Given the description of an element on the screen output the (x, y) to click on. 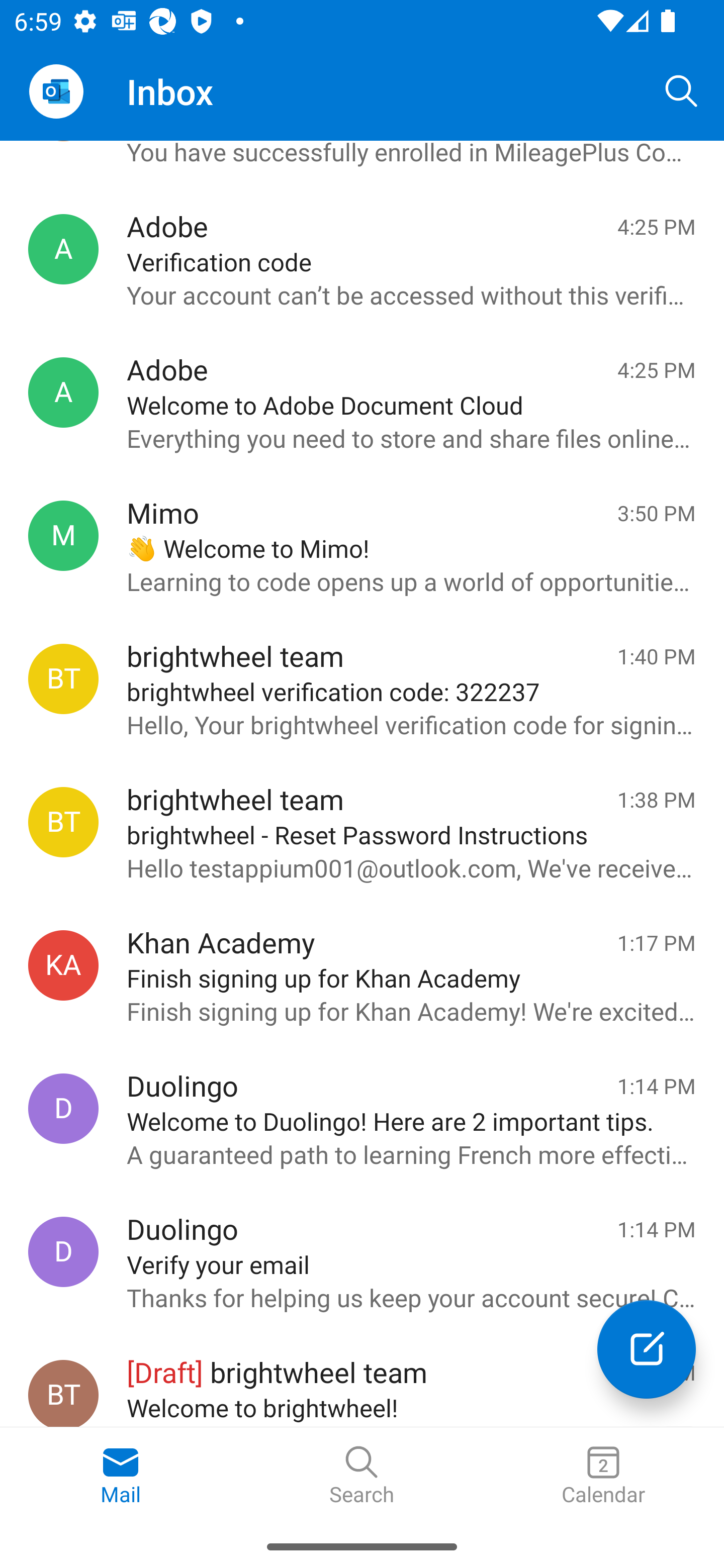
Search (681, 90)
Open Navigation Drawer (55, 91)
Adobe, message@adobe.com (63, 248)
Adobe, message@adobe.com (63, 392)
Mimo, support@getmimo.com (63, 535)
brightwheel team, recovery@mybrightwheel.com (63, 678)
brightwheel team, recovery@mybrightwheel.com (63, 822)
Khan Academy, no-reply@khanacademy.org (63, 964)
Duolingo, hello@duolingo.com (63, 1108)
Duolingo, hello@duolingo.com (63, 1251)
Compose (646, 1348)
brightwheel team, welcome@mybrightwheel.com (63, 1392)
Search (361, 1475)
Calendar (603, 1475)
